Given the description of an element on the screen output the (x, y) to click on. 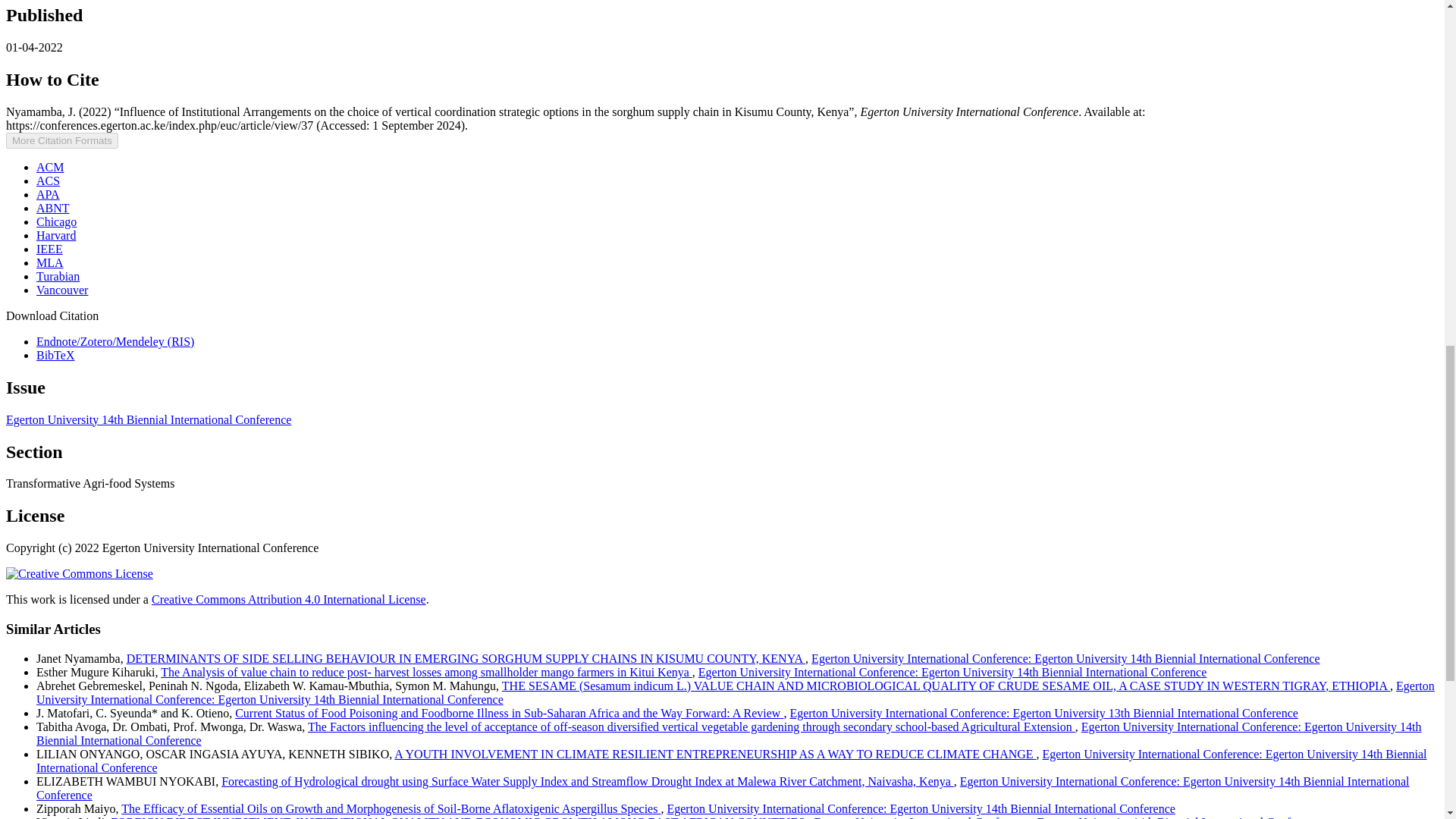
Turabian (58, 276)
ABNT (52, 207)
More Citation Formats (61, 140)
Chicago (56, 221)
APA (47, 194)
MLA (50, 262)
ACM (50, 166)
ACS (47, 180)
BibTeX (55, 354)
Harvard (55, 235)
